Given the description of an element on the screen output the (x, y) to click on. 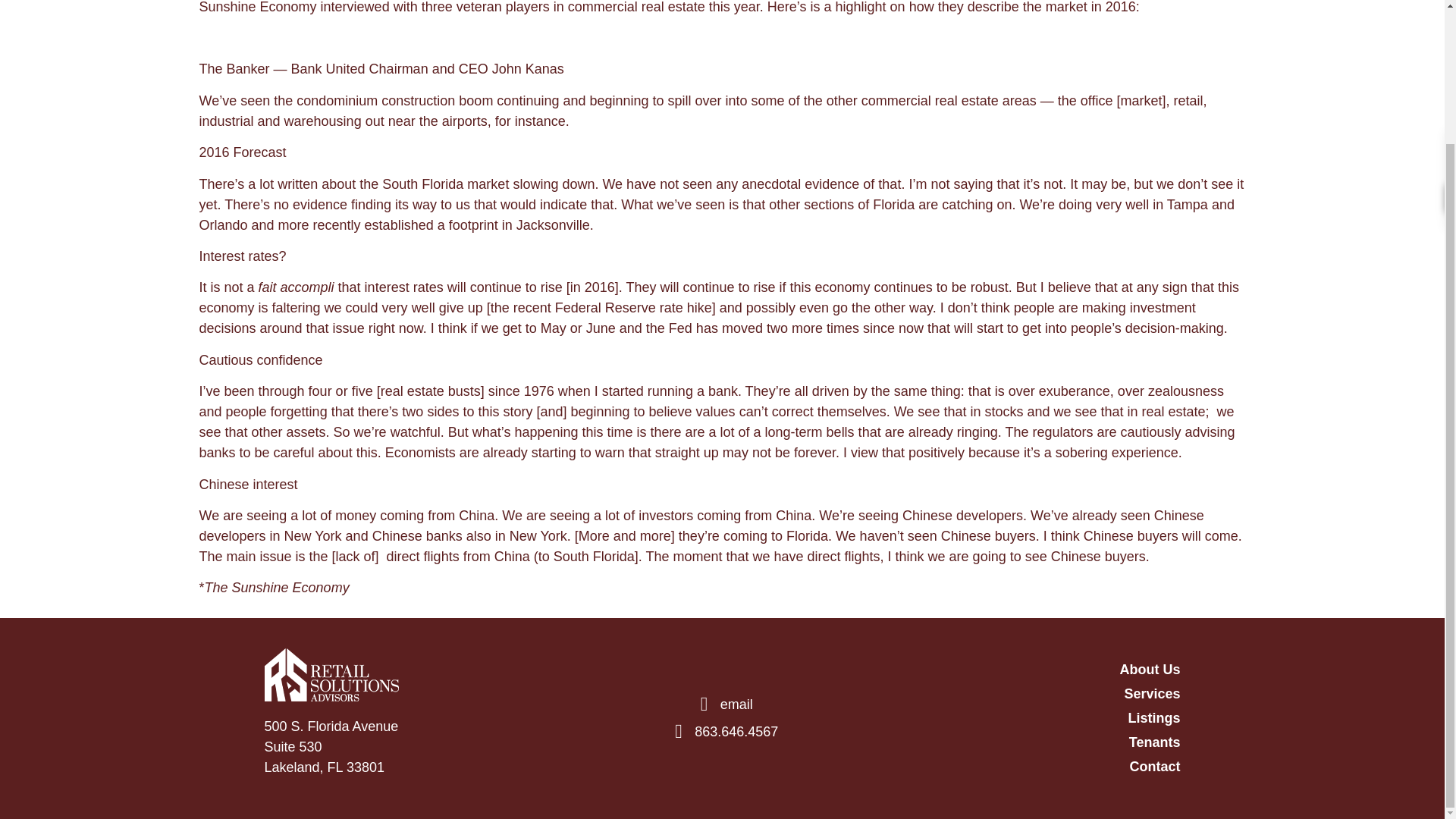
863.646.4567 (722, 731)
email (722, 704)
Listings (1032, 718)
Contact (1032, 766)
Tenants (1032, 742)
Services (1032, 693)
About Us (1032, 670)
Sunshine Economy (256, 7)
